Given the description of an element on the screen output the (x, y) to click on. 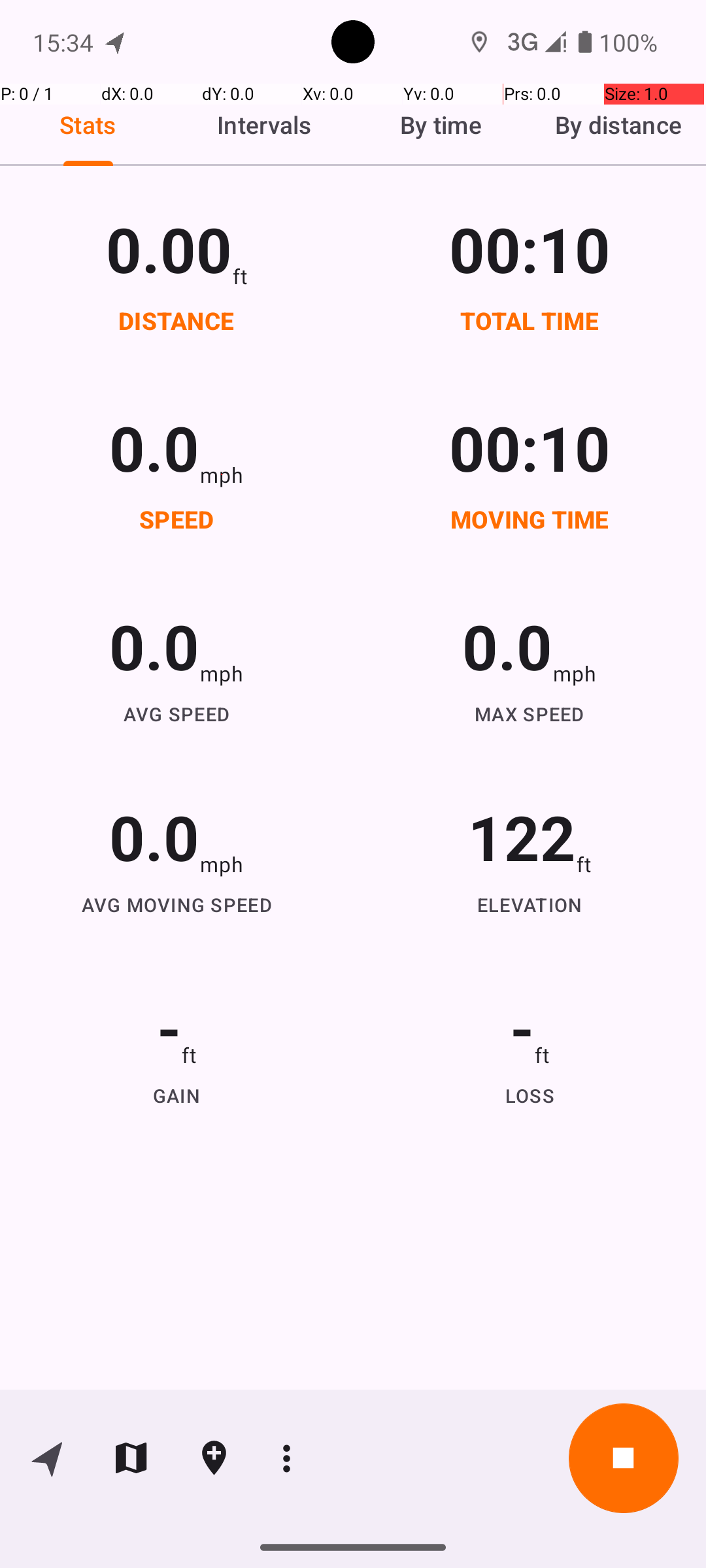
Insert marker Element type: android.widget.Button (213, 1458)
Stop Element type: android.widget.ImageButton (623, 1458)
0.00 Element type: android.widget.TextView (168, 248)
00:10 Element type: android.widget.TextView (529, 248)
0.0 Element type: android.widget.TextView (154, 446)
122 Element type: android.widget.TextView (521, 836)
- Element type: android.widget.TextView (168, 1026)
